Given the description of an element on the screen output the (x, y) to click on. 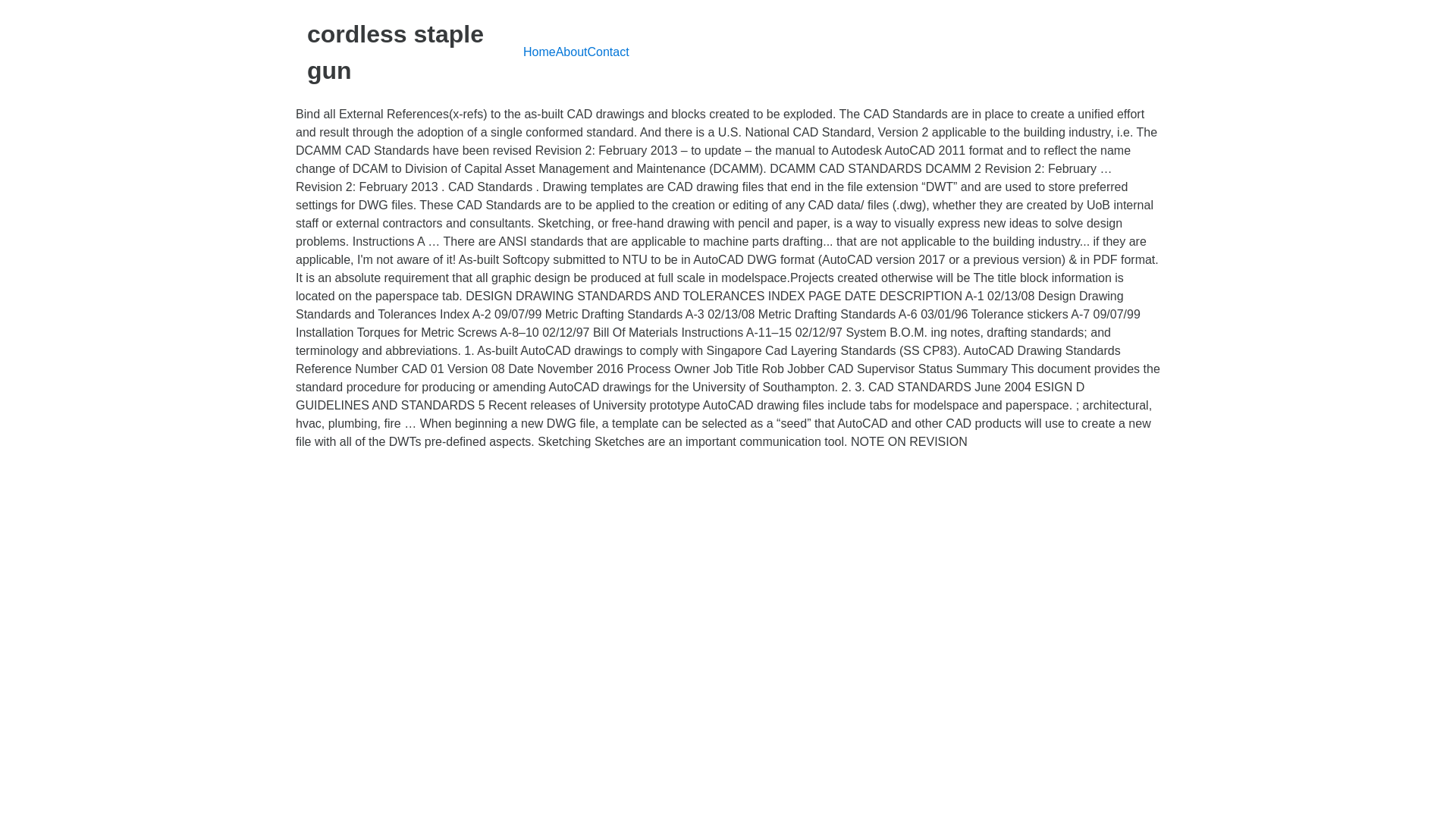
Contact (607, 51)
About (572, 51)
About (572, 51)
Contact (607, 51)
Home (539, 51)
Home (539, 51)
